Given the description of an element on the screen output the (x, y) to click on. 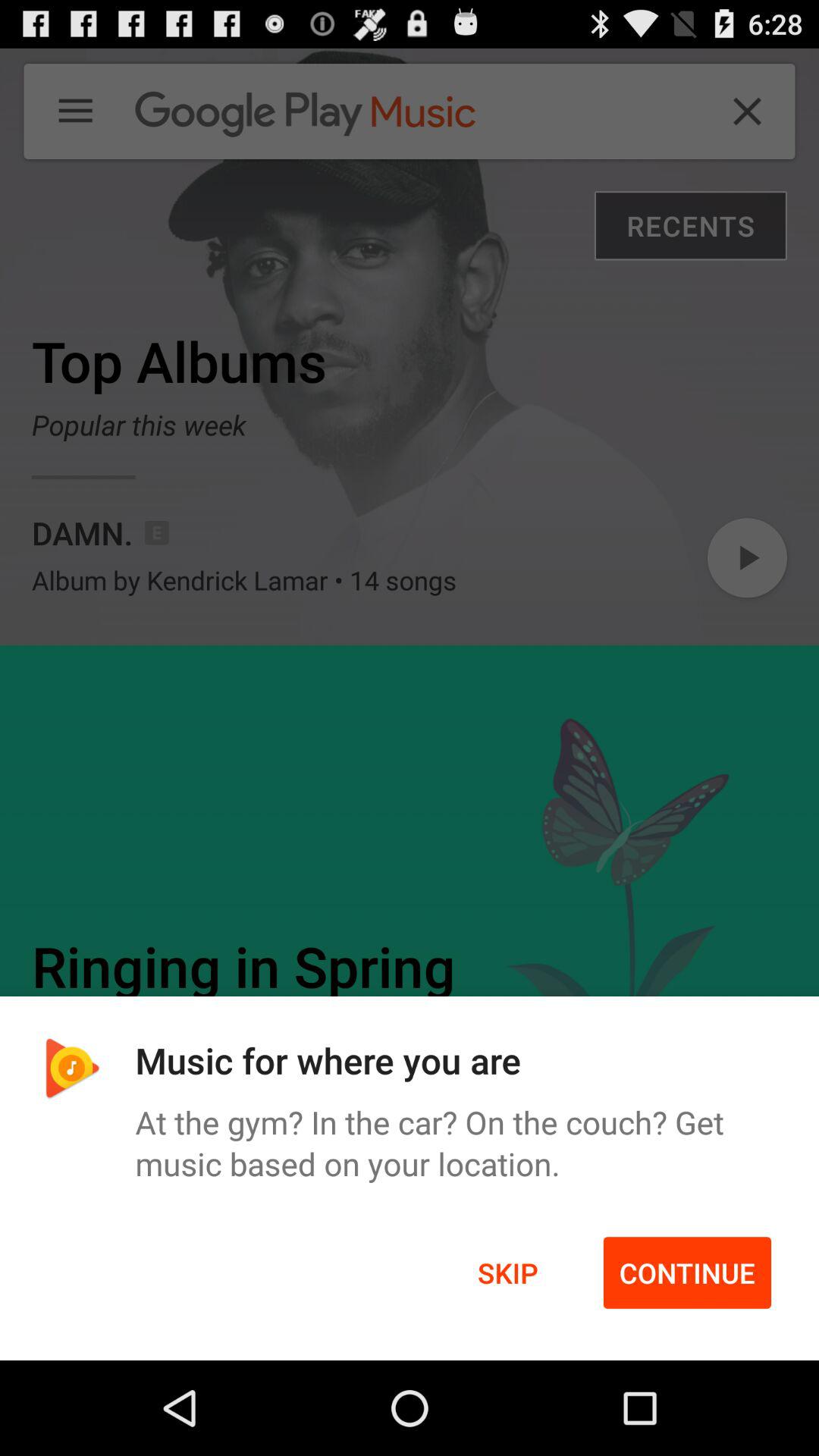
open skip item (507, 1272)
